Given the description of an element on the screen output the (x, y) to click on. 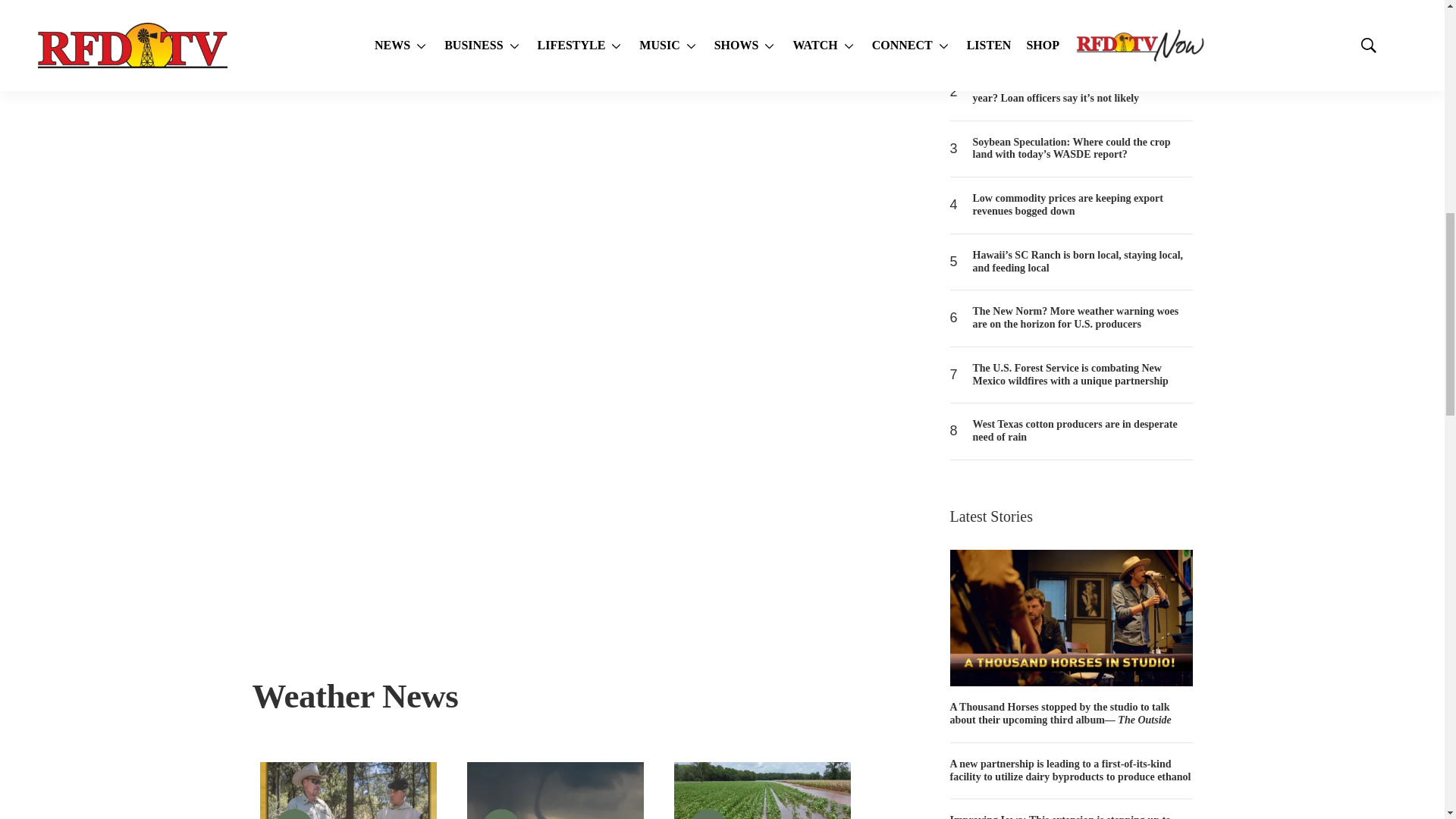
Weather Widget (555, 330)
Weather Widget (555, 216)
Weather Widget (555, 558)
Weather Widget (555, 444)
